Given the description of an element on the screen output the (x, y) to click on. 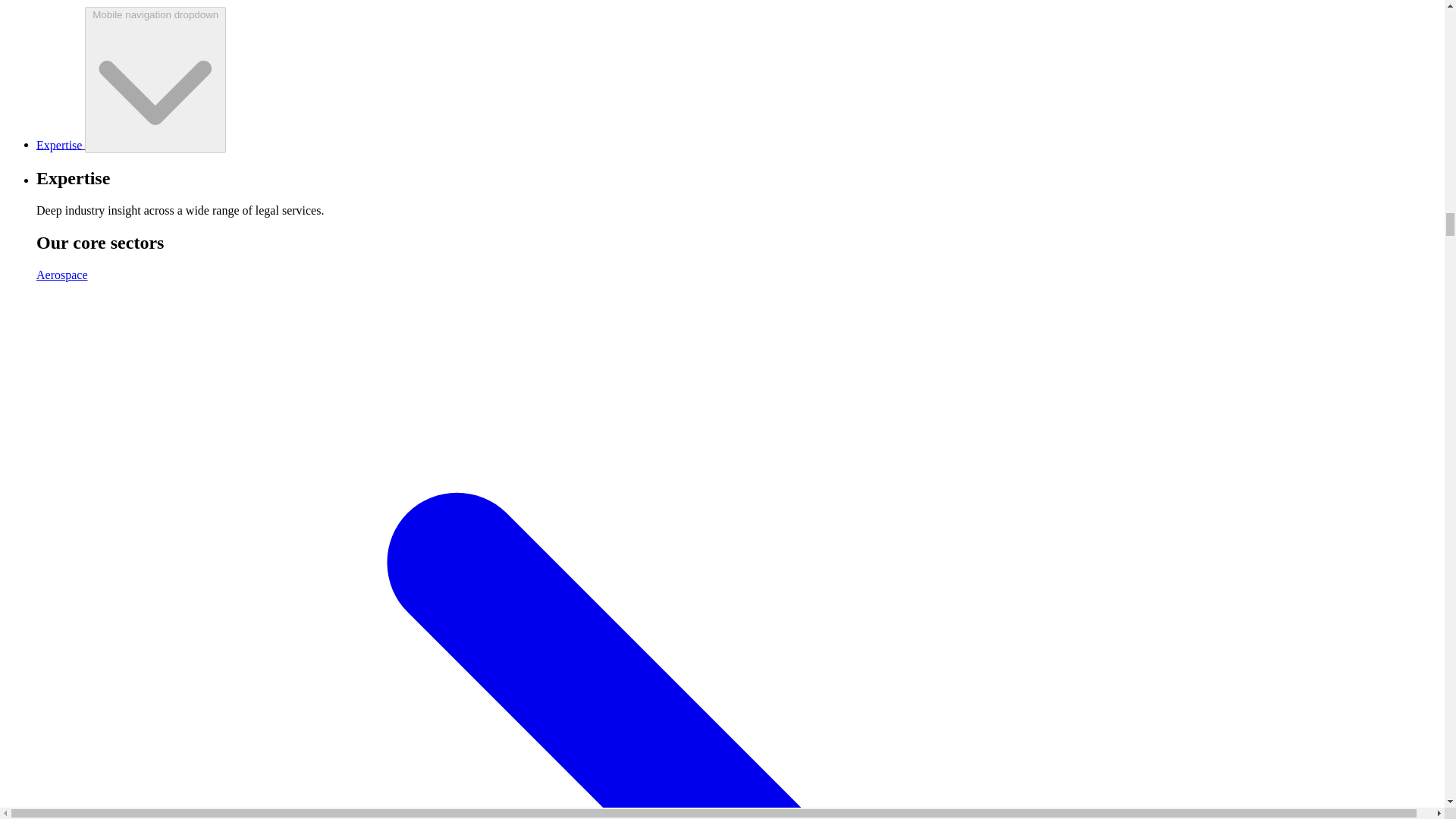
Mobile navigation dropdown (154, 79)
Expertise (60, 144)
